Given the description of an element on the screen output the (x, y) to click on. 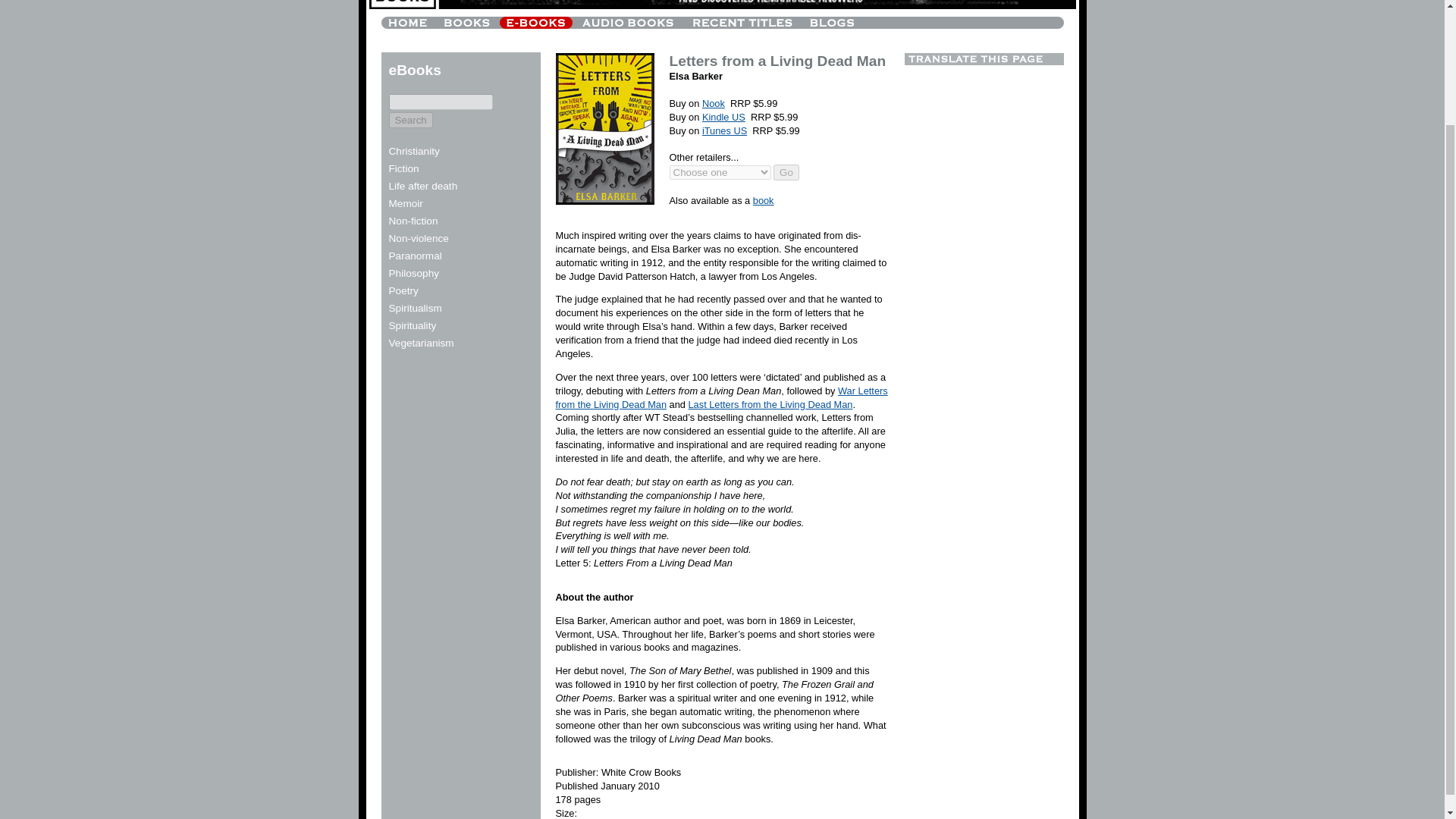
Last Letters from the Living Dead Man (770, 404)
Non-violence (418, 238)
Search (410, 119)
Philosophy (413, 273)
Go (786, 172)
Memoir (405, 203)
War Letters from the Living Dead Man (720, 397)
Life after death (422, 185)
Christianity (413, 151)
Spirituality (411, 325)
